Given the description of an element on the screen output the (x, y) to click on. 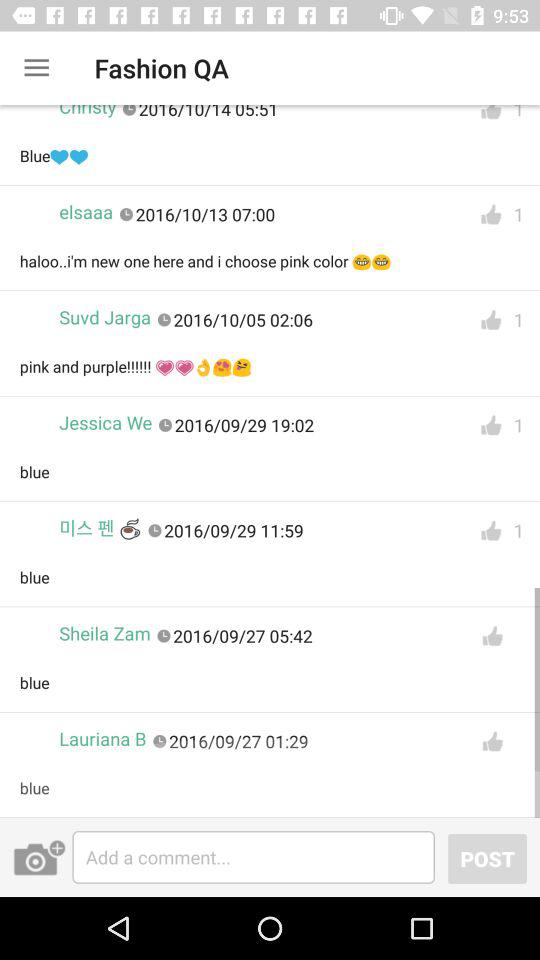
scroll until the elsaaa item (86, 212)
